Given the description of an element on the screen output the (x, y) to click on. 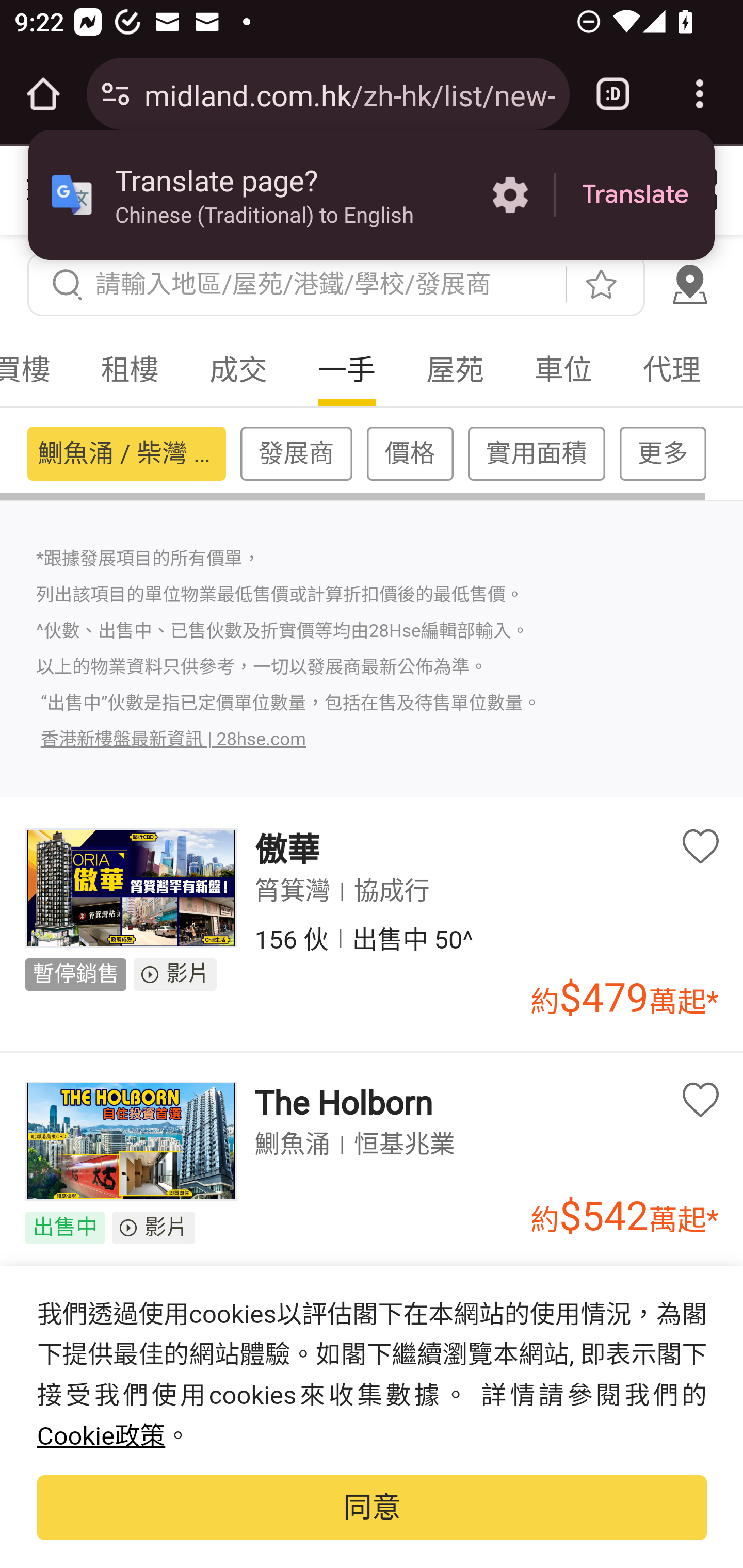
Open the home page (43, 93)
Connection is secure (115, 93)
Switch or close tabs (612, 93)
Customize and control Google Chrome (699, 93)
Translate (634, 195)
More options in the Translate page? (509, 195)
地圖搜尋 (689, 283)
買樓 (37, 369)
租樓 (130, 369)
成交 (238, 369)
一手 (347, 369)
屋苑 (454, 369)
車位 (563, 369)
代理 (672, 369)
Cookie政策 (101, 1436)
同意 (372, 1507)
